Given the description of an element on the screen output the (x, y) to click on. 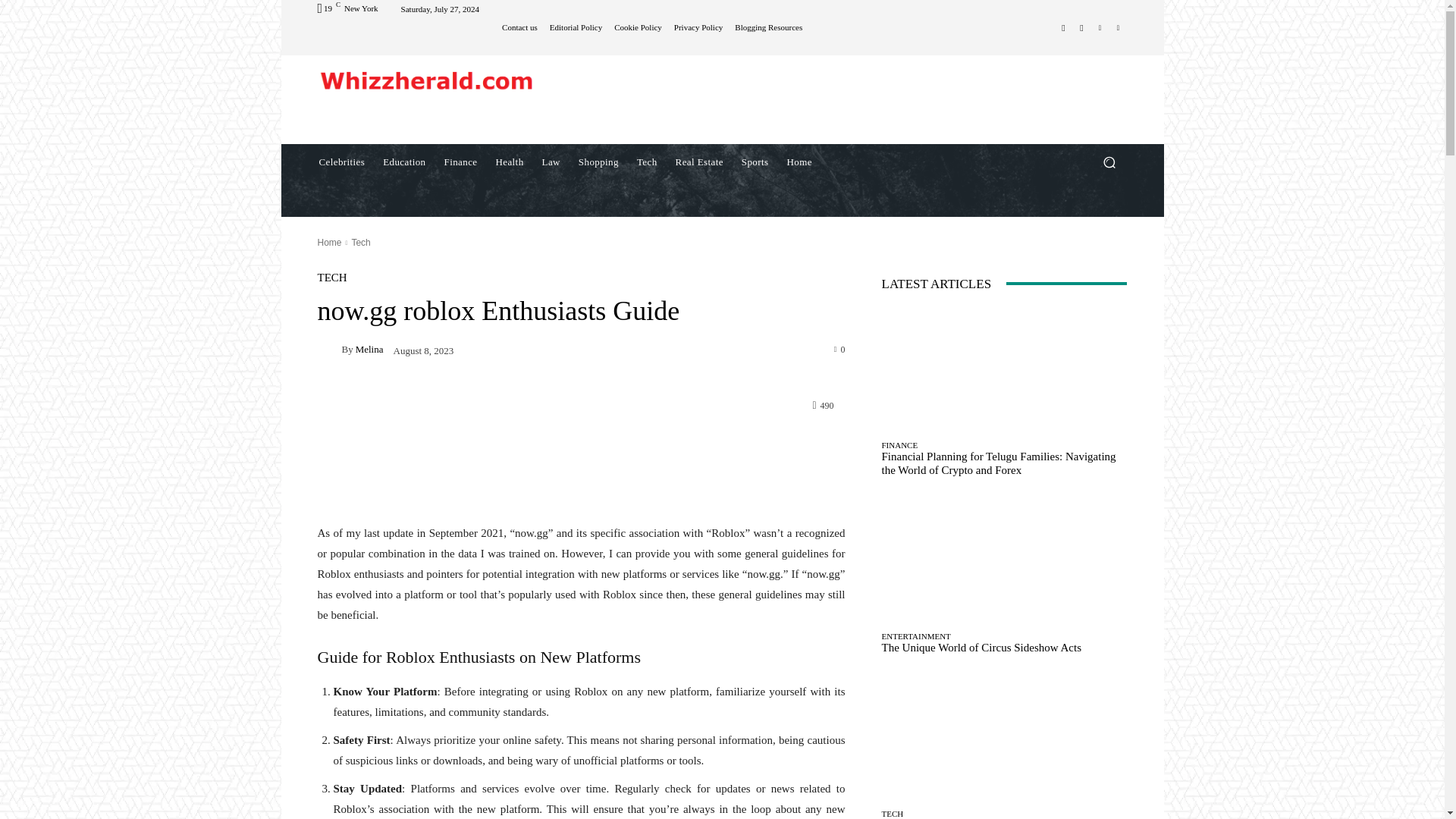
Privacy Policy (698, 27)
Finance (460, 162)
Cookie Policy (638, 27)
Tech (646, 162)
View all posts in Tech (359, 242)
Blogging Resources (768, 27)
Editorial Policy (576, 27)
Real Estate (699, 162)
Instagram (1080, 27)
Law (550, 162)
Home (799, 162)
Health (509, 162)
Education (403, 162)
Shopping (598, 162)
Pinterest (1099, 27)
